Given the description of an element on the screen output the (x, y) to click on. 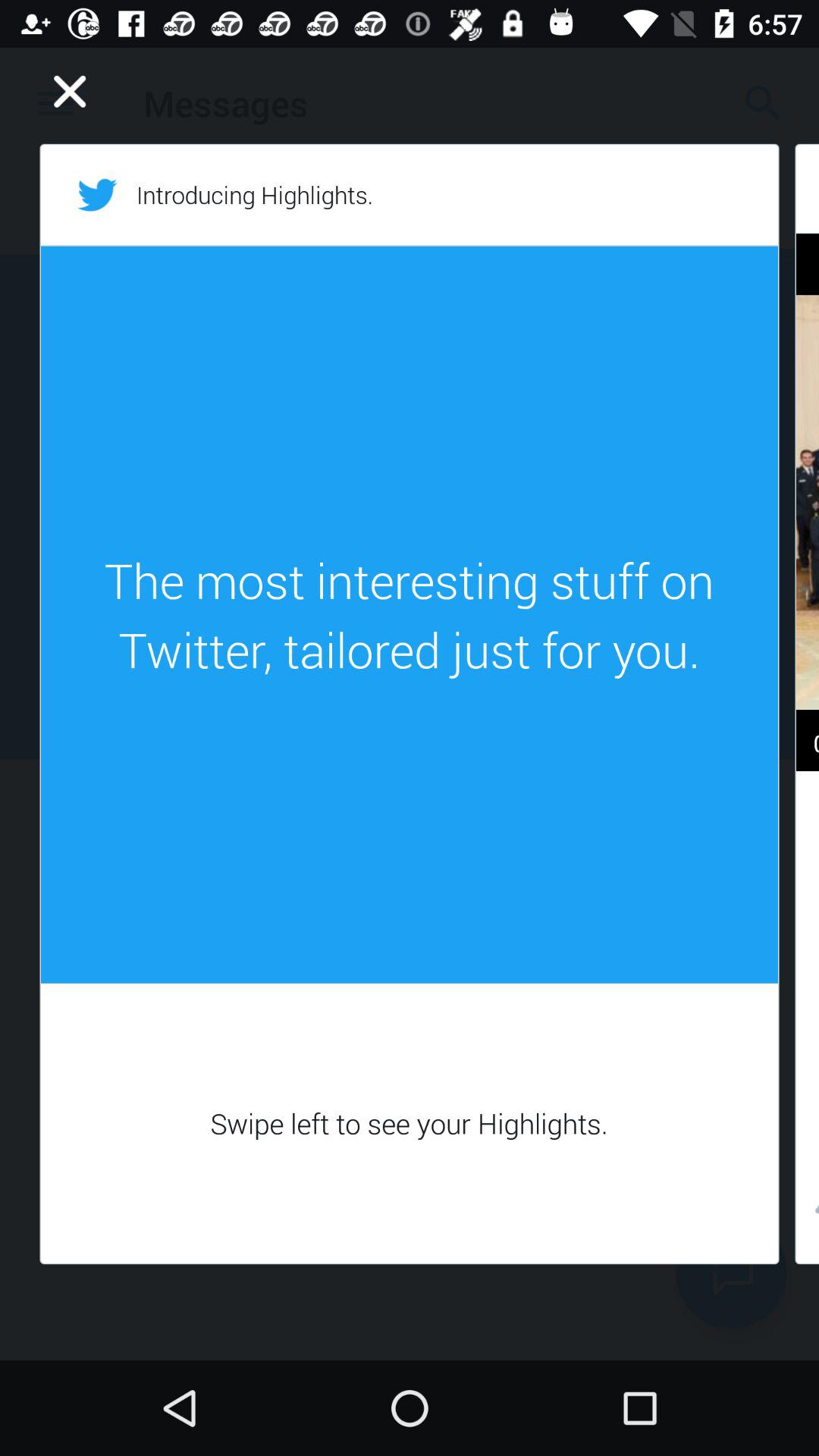
open 7,232 at the bottom right corner (807, 1213)
